Given the description of an element on the screen output the (x, y) to click on. 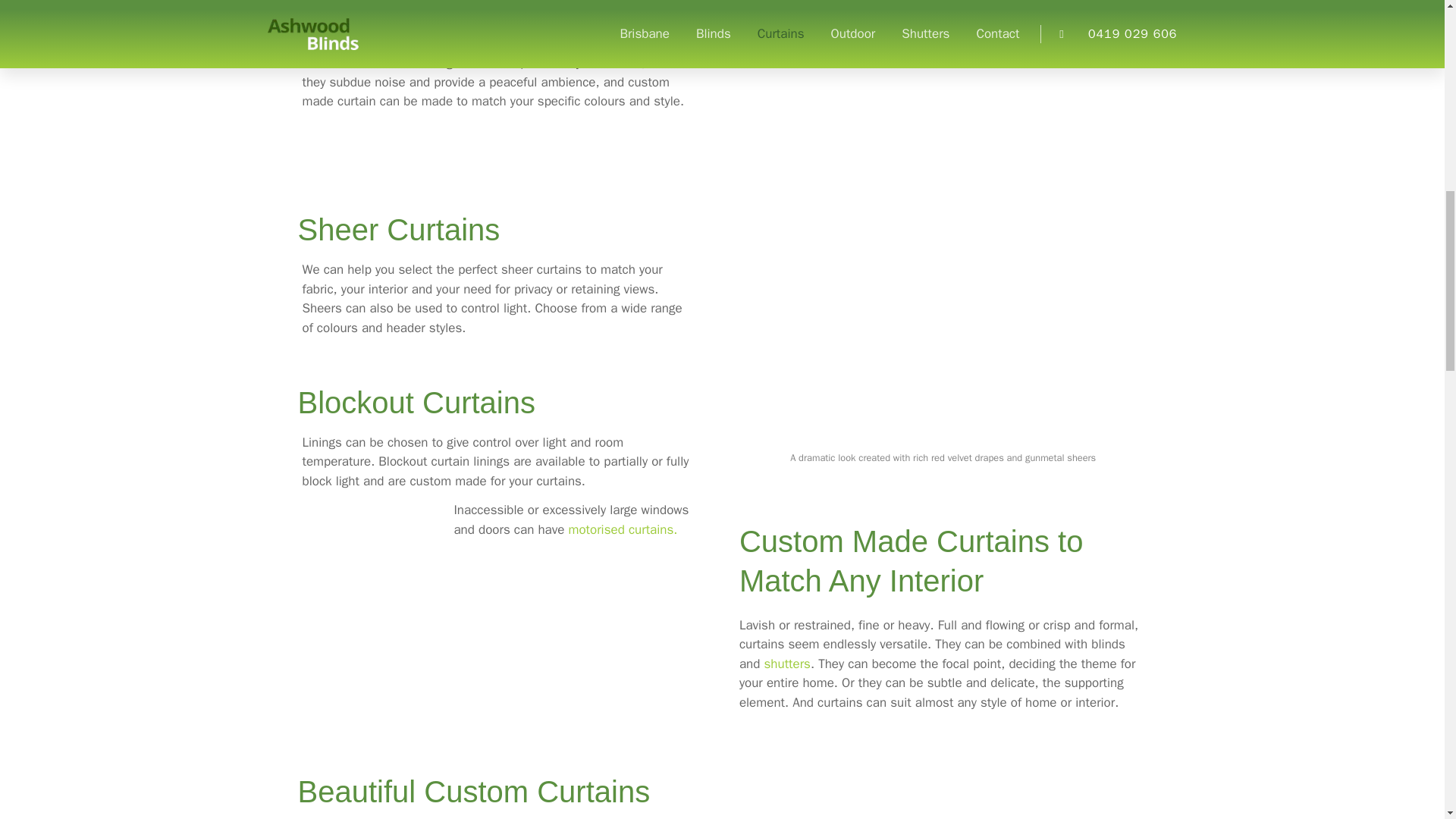
Brisbane curtains 5 (371, 570)
Brisbane curtains 15 (943, 778)
